Given the description of an element on the screen output the (x, y) to click on. 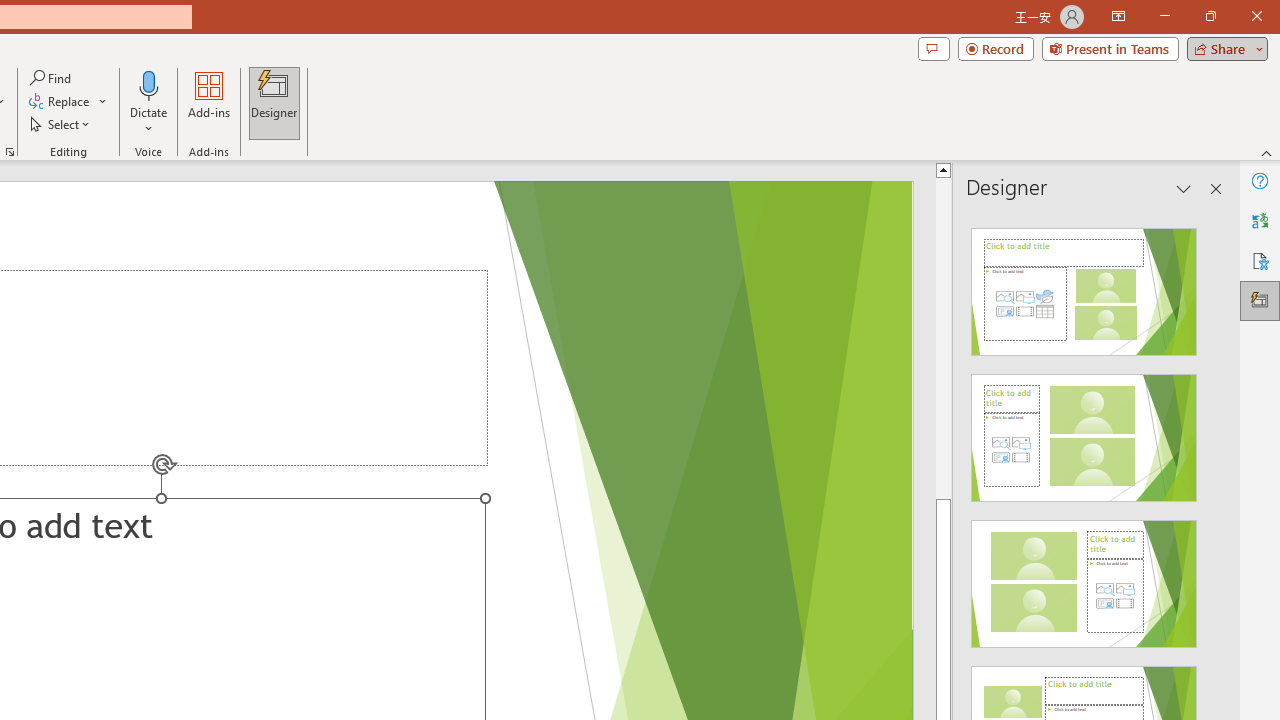
Design Idea (1083, 577)
